Given the description of an element on the screen output the (x, y) to click on. 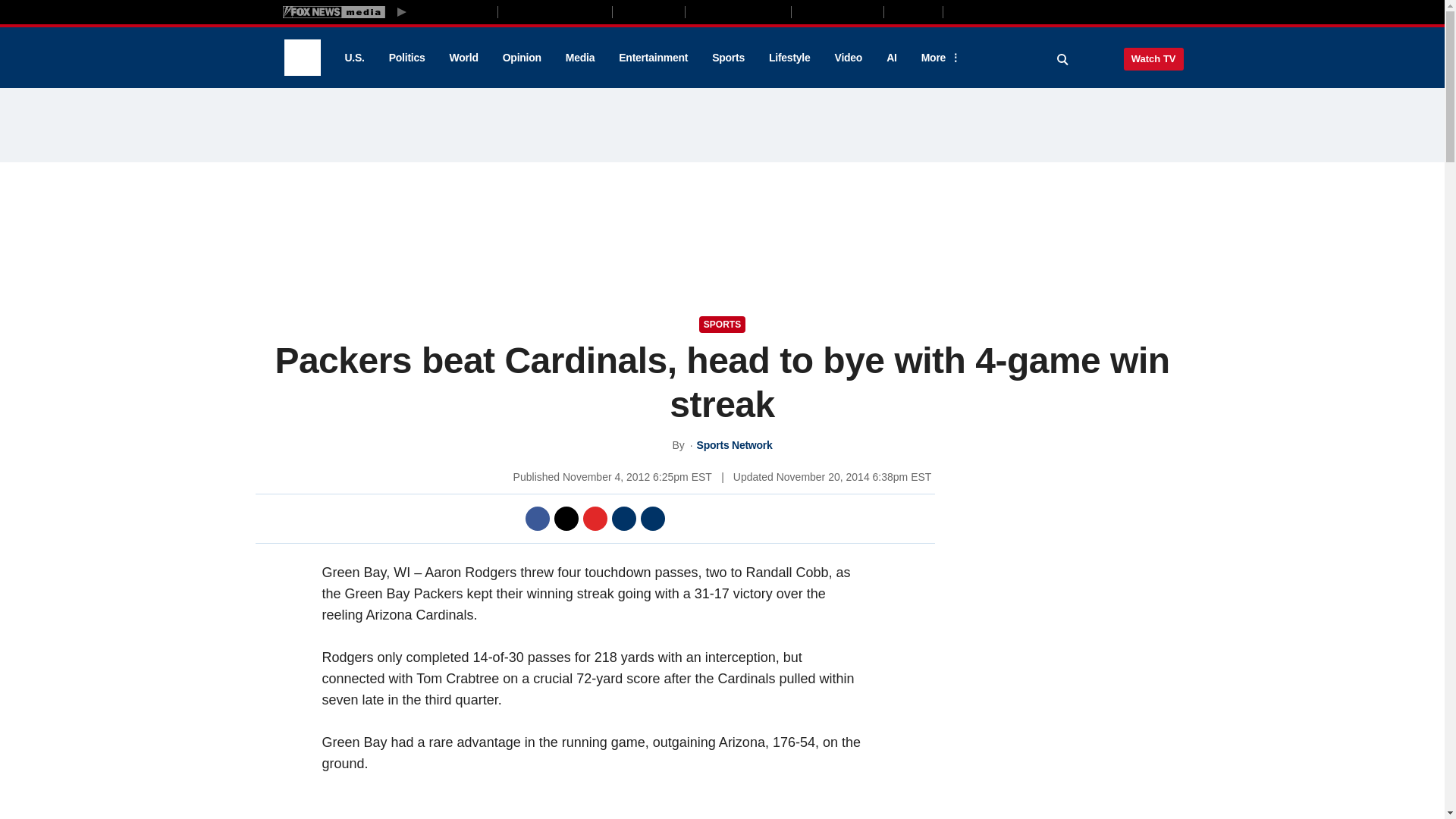
Fox News Audio (737, 11)
Fox Nation (648, 11)
Fox Business (554, 11)
Sports (728, 57)
World (464, 57)
Entertainment (653, 57)
U.S. (353, 57)
Fox News Media (453, 11)
Media (580, 57)
Opinion (521, 57)
